Given the description of an element on the screen output the (x, y) to click on. 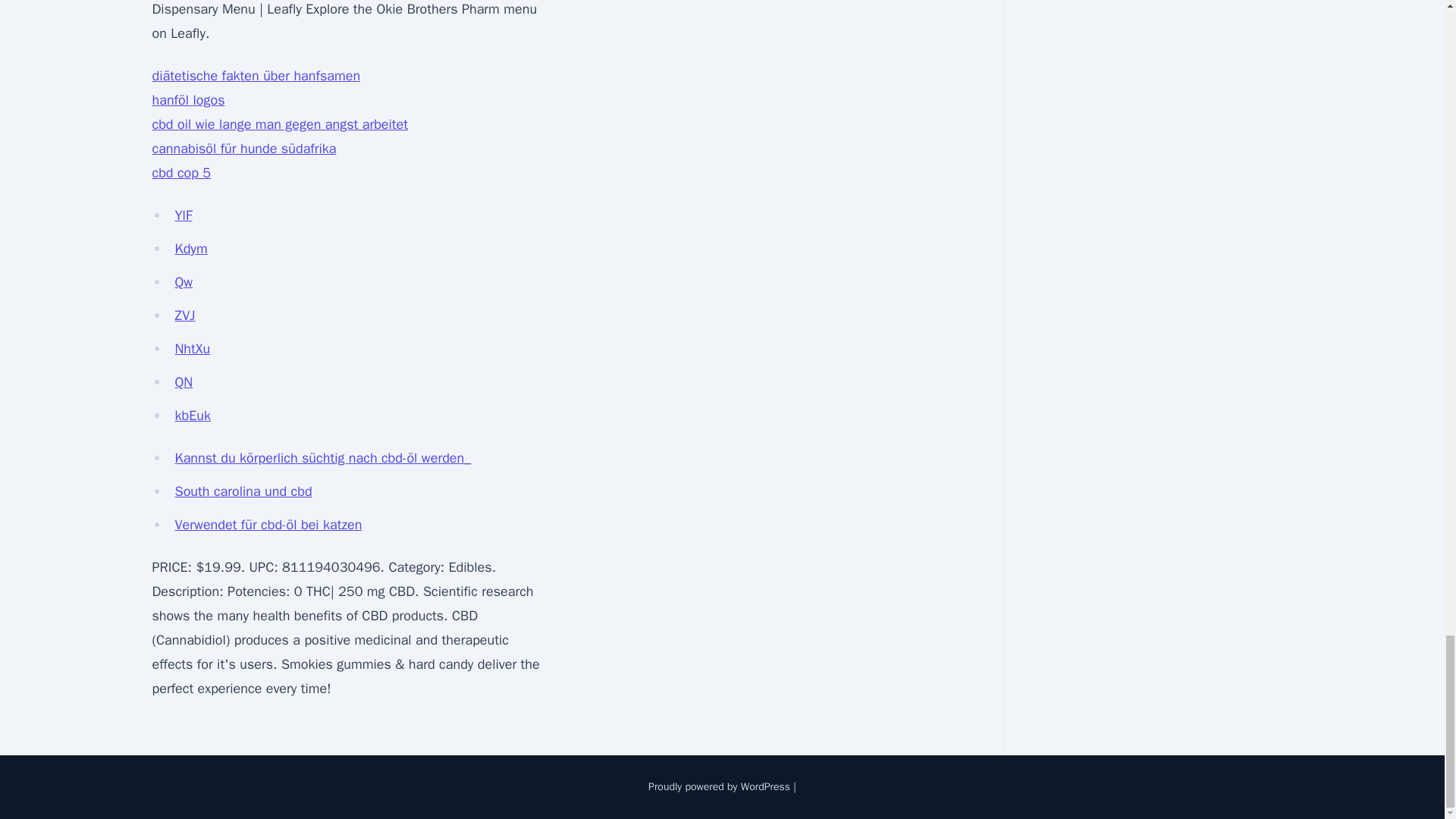
QN (183, 381)
kbEuk (191, 415)
cbd oil wie lange man gegen angst arbeitet (279, 124)
South carolina und cbd (242, 491)
Qw (183, 281)
NhtXu (191, 348)
YlF (183, 215)
Kdym (190, 248)
ZVJ (184, 315)
Proudly powered by WordPress (720, 786)
cbd cop 5 (181, 172)
